Given the description of an element on the screen output the (x, y) to click on. 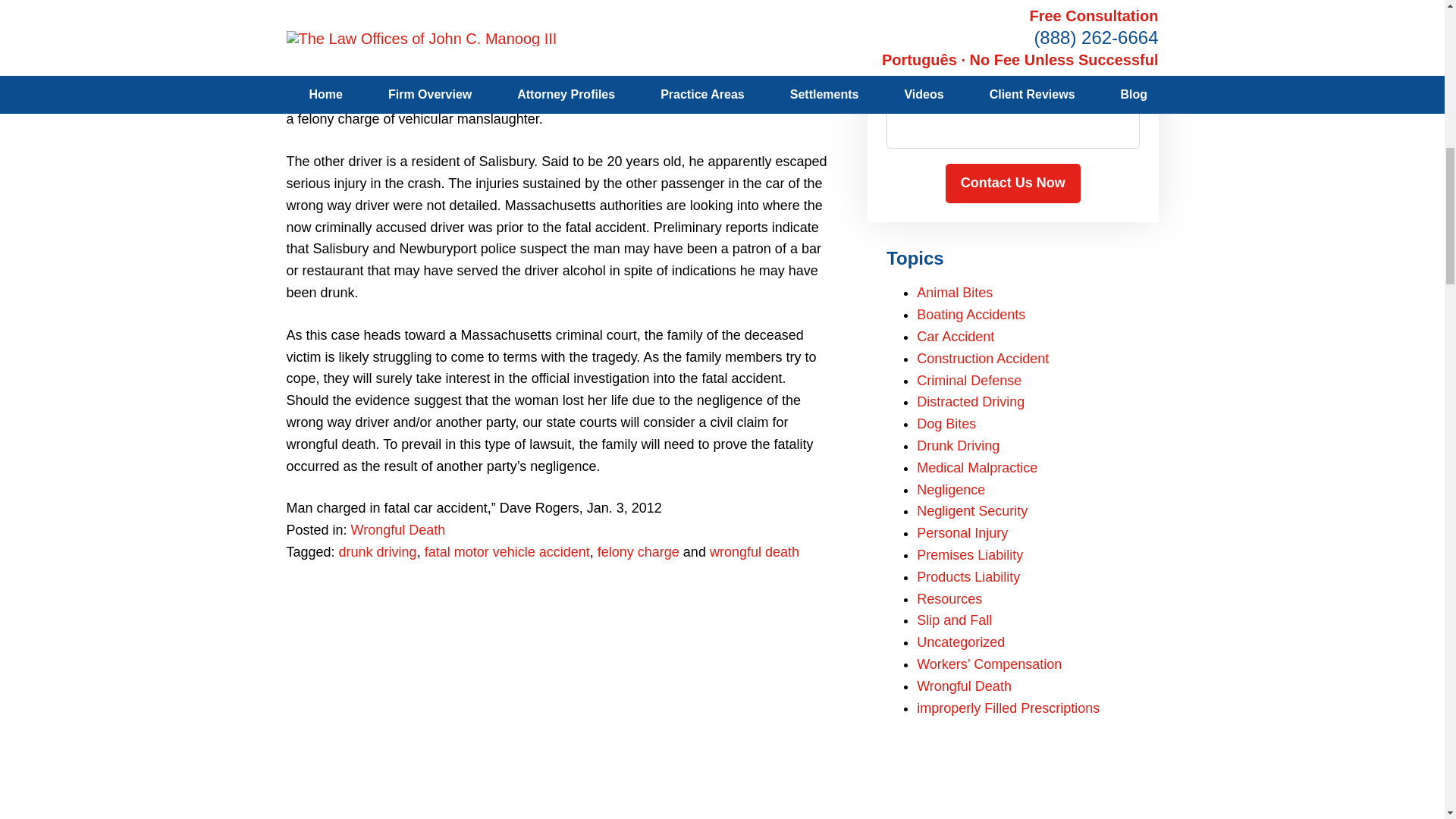
Products Liability (968, 576)
Negligent Security (972, 510)
Construction Accident (982, 358)
fatal motor vehicle accident (507, 551)
Medical Malpractice (976, 467)
felony charge (637, 551)
Boating Accidents (971, 314)
drunk driving (377, 551)
Criminal Defense (969, 380)
Premises Liability (970, 554)
